Given the description of an element on the screen output the (x, y) to click on. 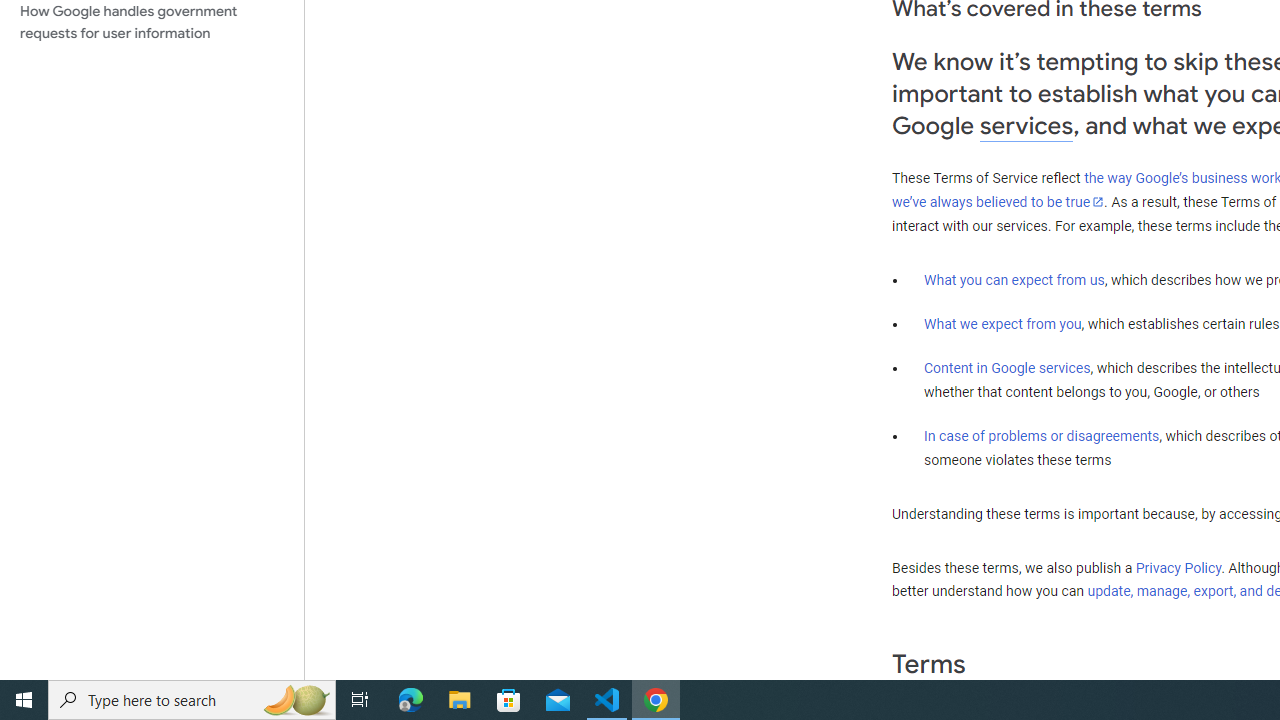
Content in Google services (1007, 368)
What you can expect from us (1014, 279)
In case of problems or disagreements (1041, 435)
What we expect from you (1002, 323)
services (1026, 125)
Privacy Policy (1178, 567)
